Given the description of an element on the screen output the (x, y) to click on. 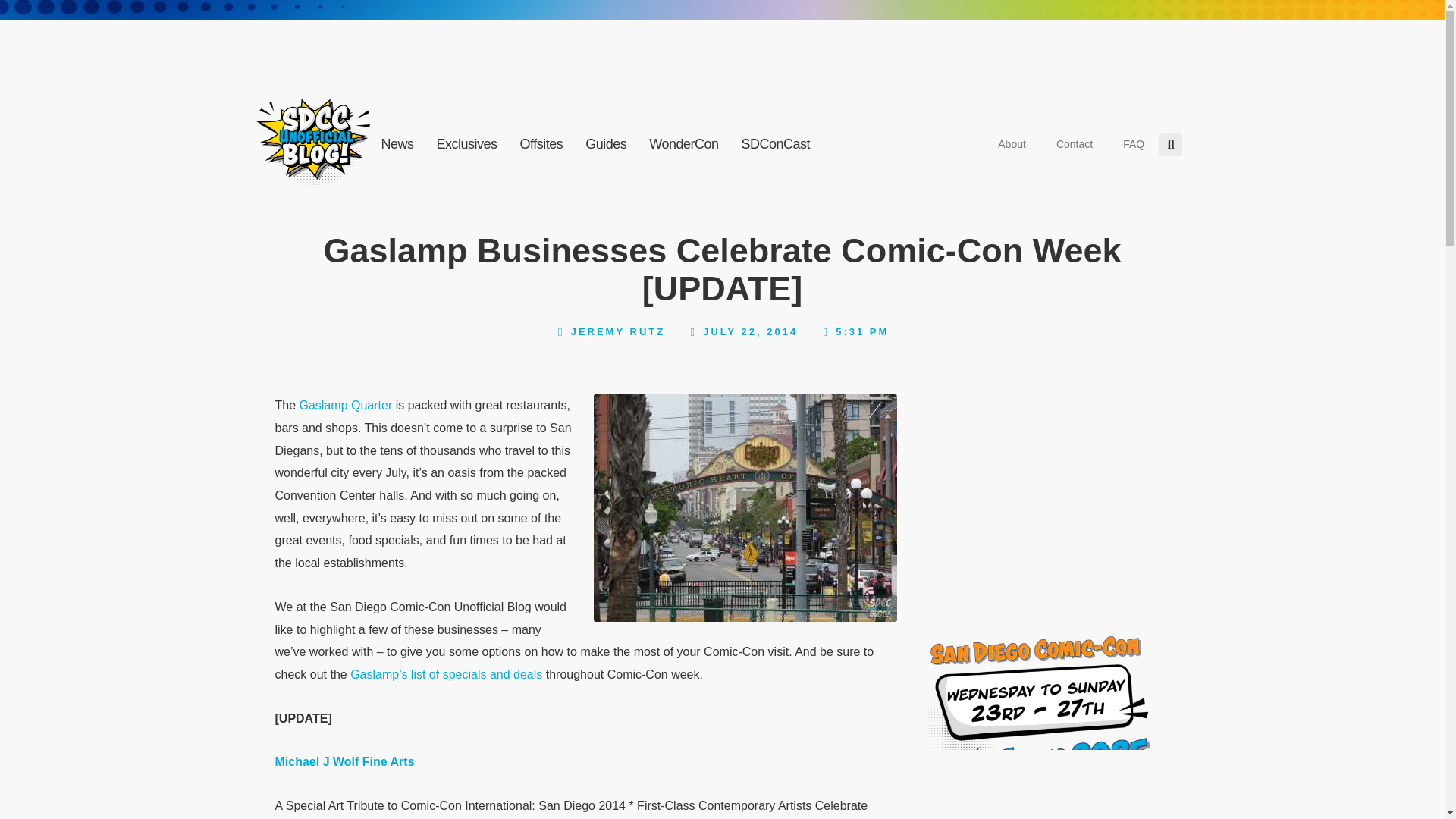
FAQ (1133, 143)
WonderCon (683, 143)
Guides (605, 143)
News (397, 143)
Exclusives (466, 143)
Contact (1074, 143)
About (1011, 143)
Offsites (541, 143)
SDConCast (776, 143)
